Given the description of an element on the screen output the (x, y) to click on. 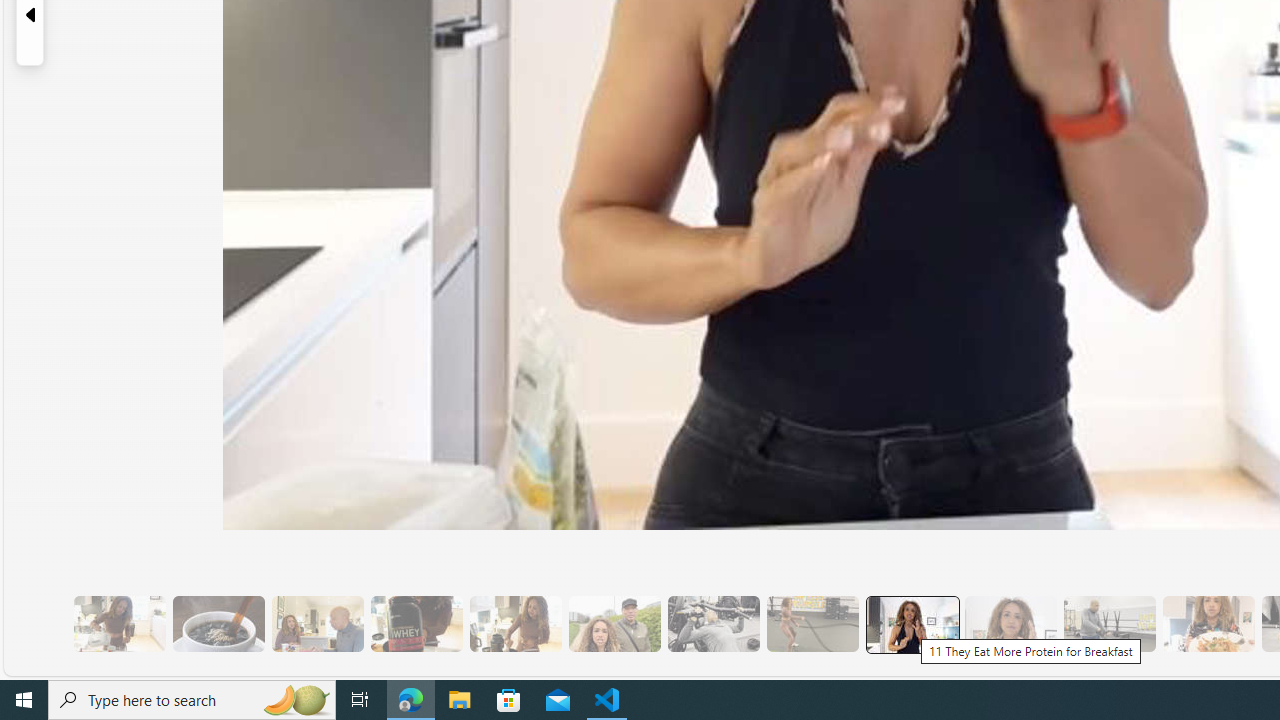
5 She Eats Less Than Her Husband (317, 624)
14 They Have Salmon and Veggies for Dinner (1208, 624)
3 They Drink Lemon Tea (119, 624)
11 They Eat More Protein for Breakfast (911, 624)
5 She Eats Less Than Her Husband (317, 624)
7 They Don't Skip Meals (514, 624)
6 Since Eating More Protein Her Training Has Improved (416, 624)
13 Her Husband Does Group Cardio Classs (1108, 624)
8 Be Mindful of Coffee (217, 624)
8 They Walk to the Gym (614, 624)
10 Then, They Do HIIT Cardio (811, 624)
9 They Do Bench Exercises (713, 624)
8 They Walk to the Gym (614, 624)
